Given the description of an element on the screen output the (x, y) to click on. 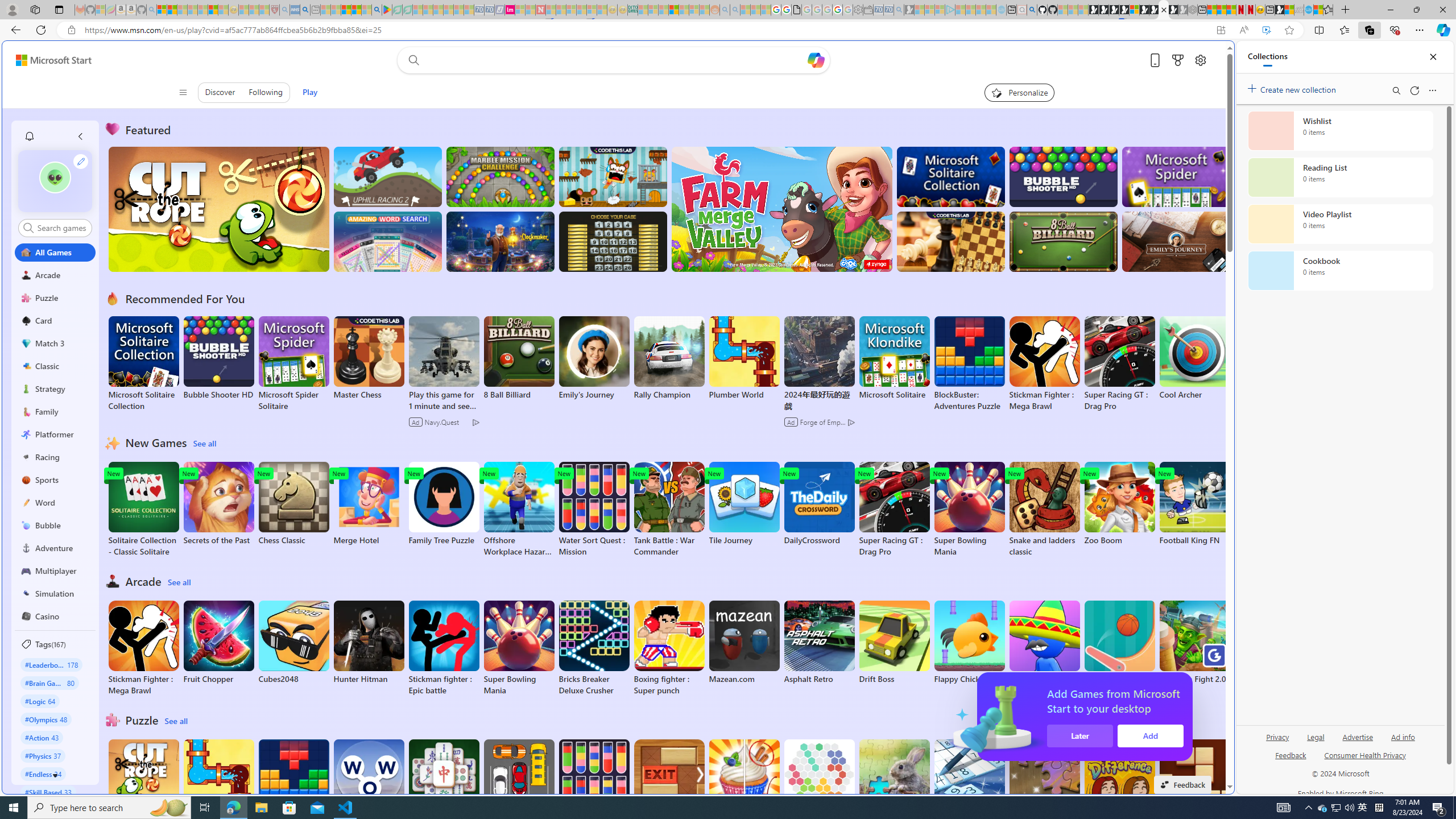
See all (176, 720)
Settings - Sleeping (857, 9)
Local - MSN - Sleeping (263, 9)
